Given the description of an element on the screen output the (x, y) to click on. 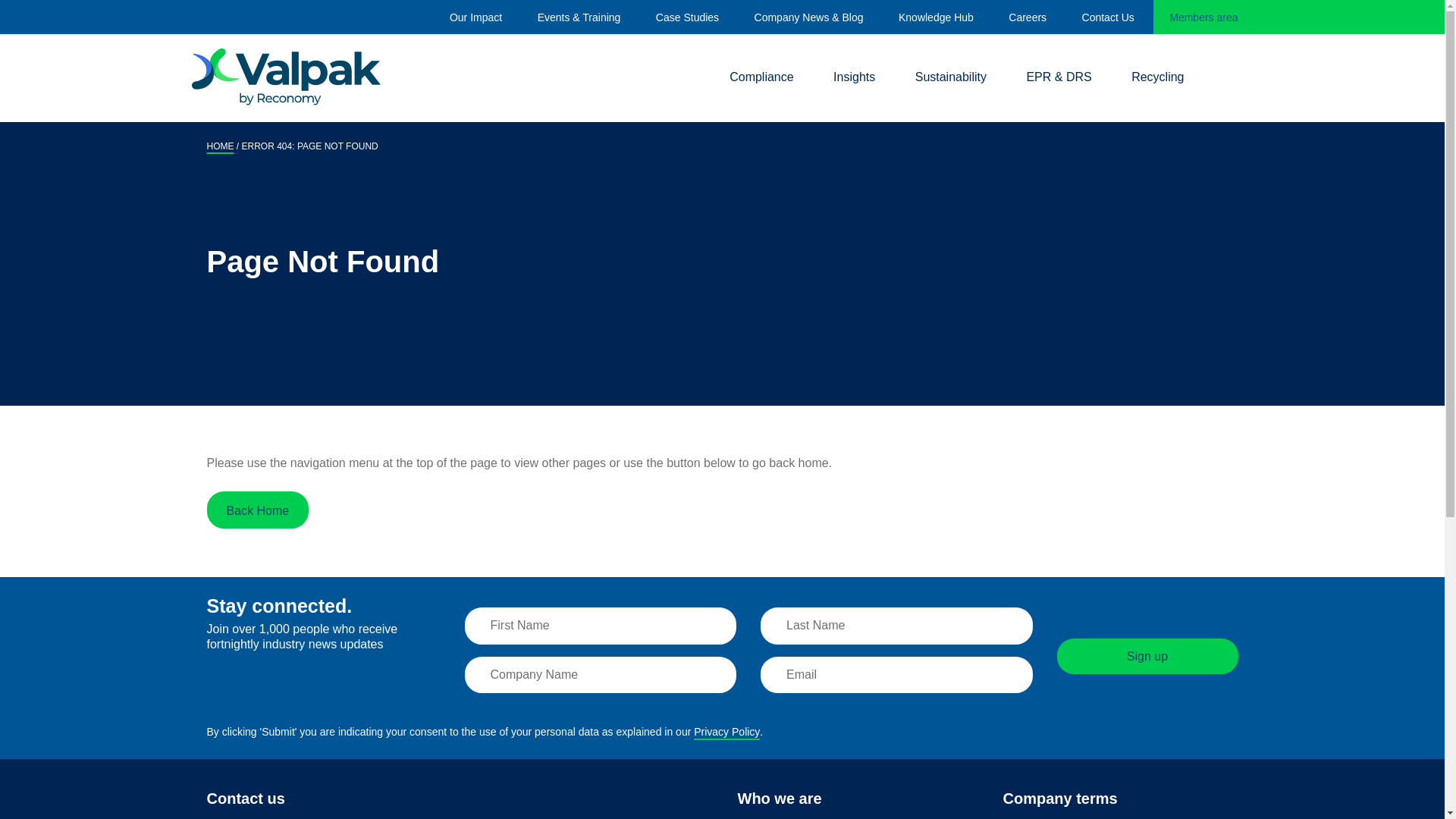
Sign up (1148, 656)
Our Impact (475, 17)
Careers (1027, 17)
Contact Us (1107, 17)
Compliance (761, 76)
Members area (1203, 17)
Case Studies (687, 17)
Knowledge Hub (936, 17)
Insights (853, 76)
